Given the description of an element on the screen output the (x, y) to click on. 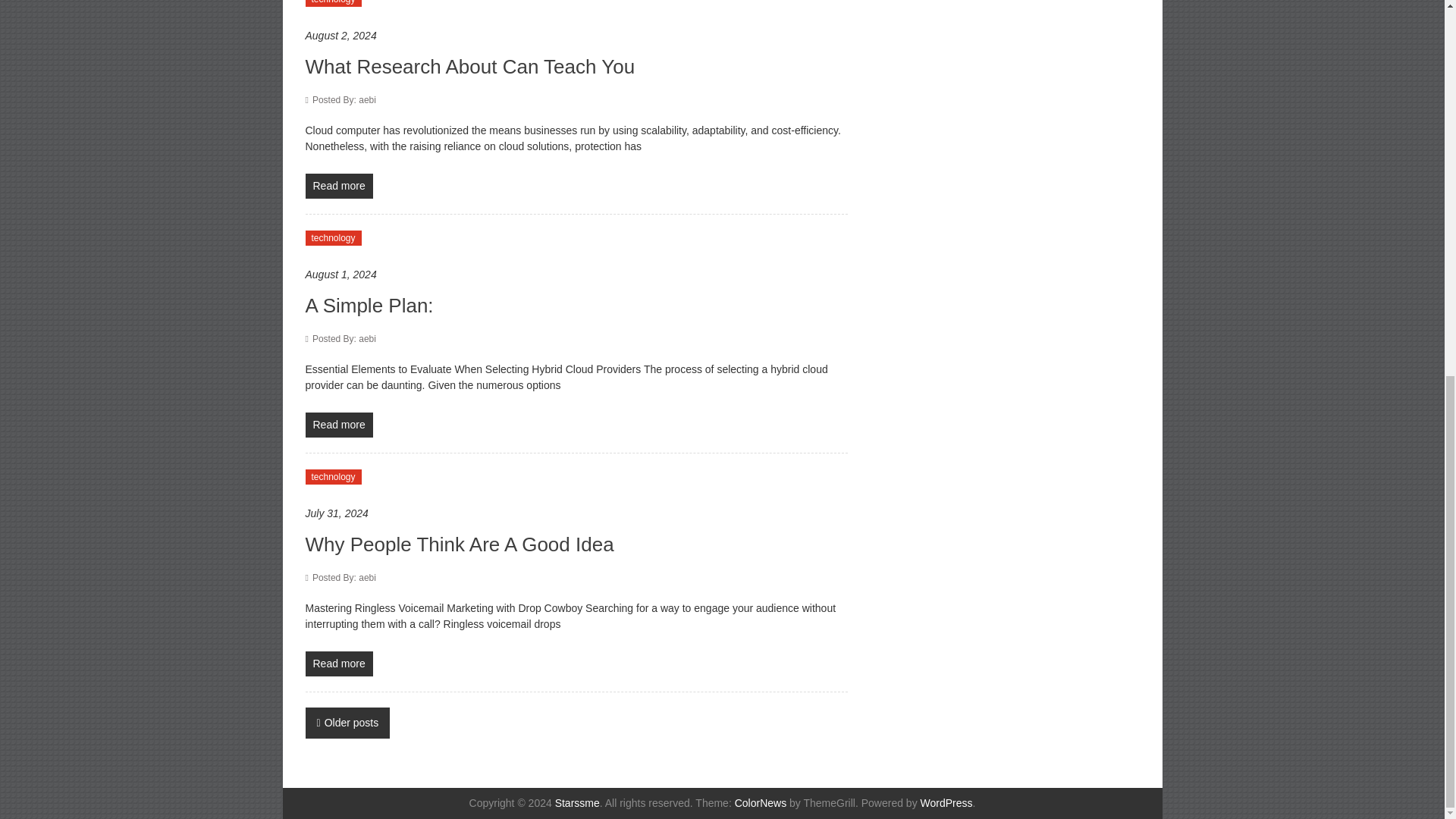
aebi (344, 100)
ColorNews (760, 802)
Posted By: aebi (344, 100)
A Simple Plan: (368, 305)
technology (332, 476)
aebi (344, 338)
August 2, 2024 (575, 35)
WordPress (946, 802)
What Research About  Can Teach You (469, 66)
Read more (338, 186)
